Given the description of an element on the screen output the (x, y) to click on. 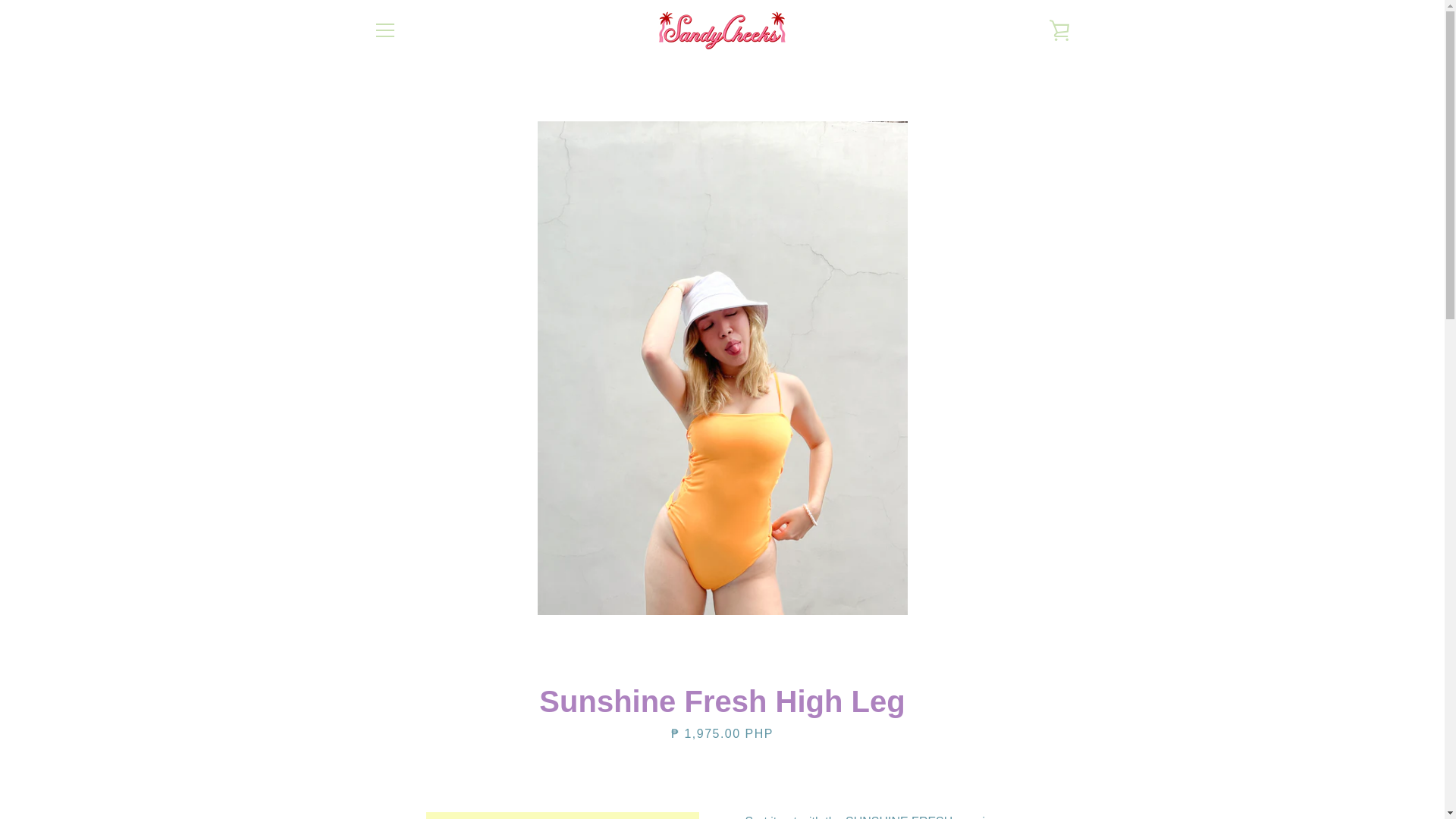
VIEW CART (1059, 30)
PayPal (1057, 769)
MENU (384, 30)
